Given the description of an element on the screen output the (x, y) to click on. 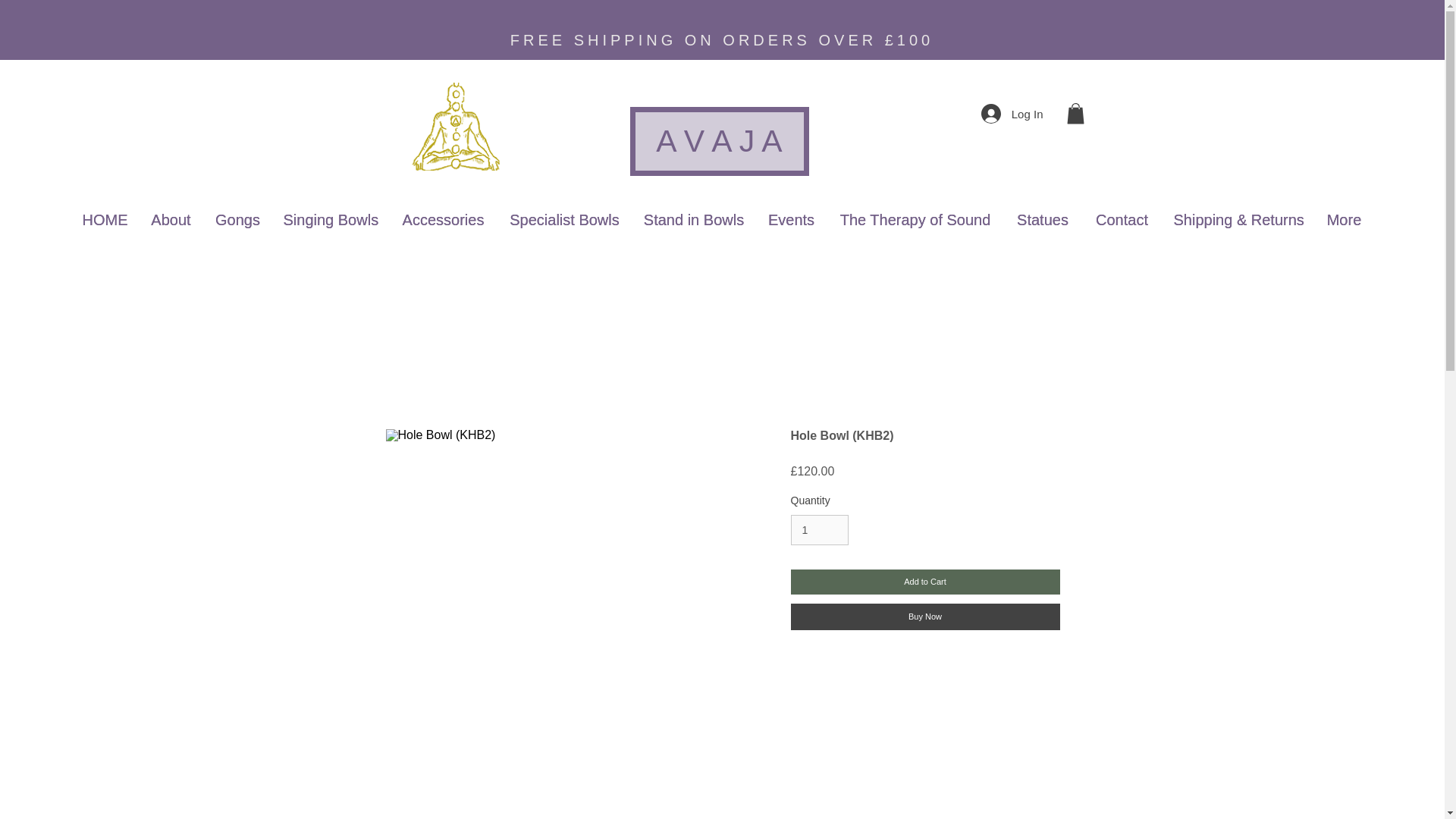
1 (818, 530)
Singing Bowls (329, 219)
The Therapy of Sound (915, 219)
Accessories (443, 219)
Stand in Bowls (693, 219)
Specialist Bowls (564, 219)
Log In (1012, 113)
Contact (1121, 219)
A V A J A (718, 141)
